Given the description of an element on the screen output the (x, y) to click on. 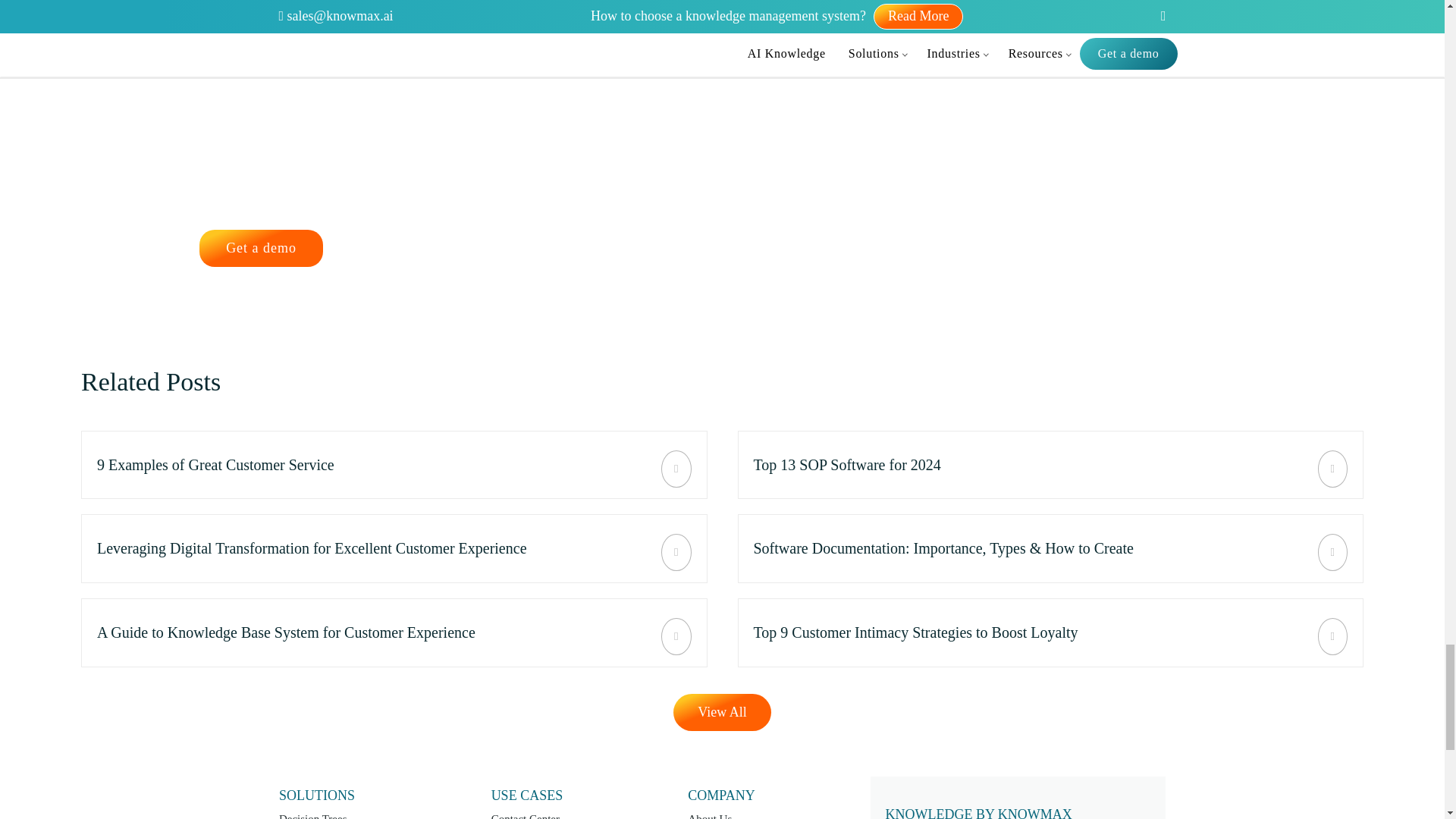
Create interactive customer service scripts with Knowmax (394, 632)
Create interactive customer service scripts with Knowmax (1049, 632)
Create interactive customer service scripts with Knowmax (394, 464)
Create interactive customer service scripts with Knowmax (394, 548)
Create interactive customer service scripts with Knowmax (1049, 464)
Create interactive customer service scripts with Knowmax (1049, 548)
